Given the description of an element on the screen output the (x, y) to click on. 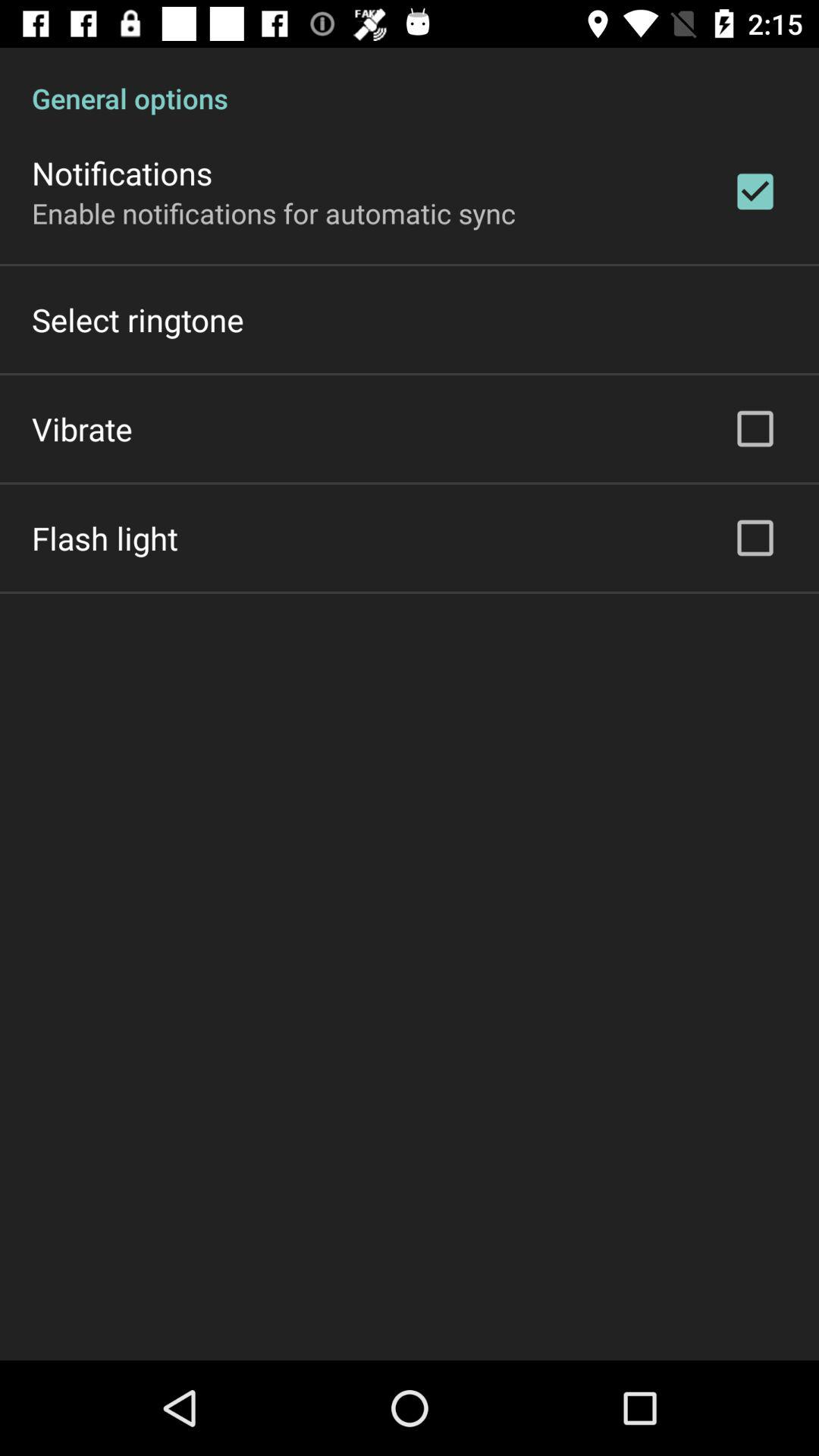
click item above the select ringtone item (273, 213)
